Given the description of an element on the screen output the (x, y) to click on. 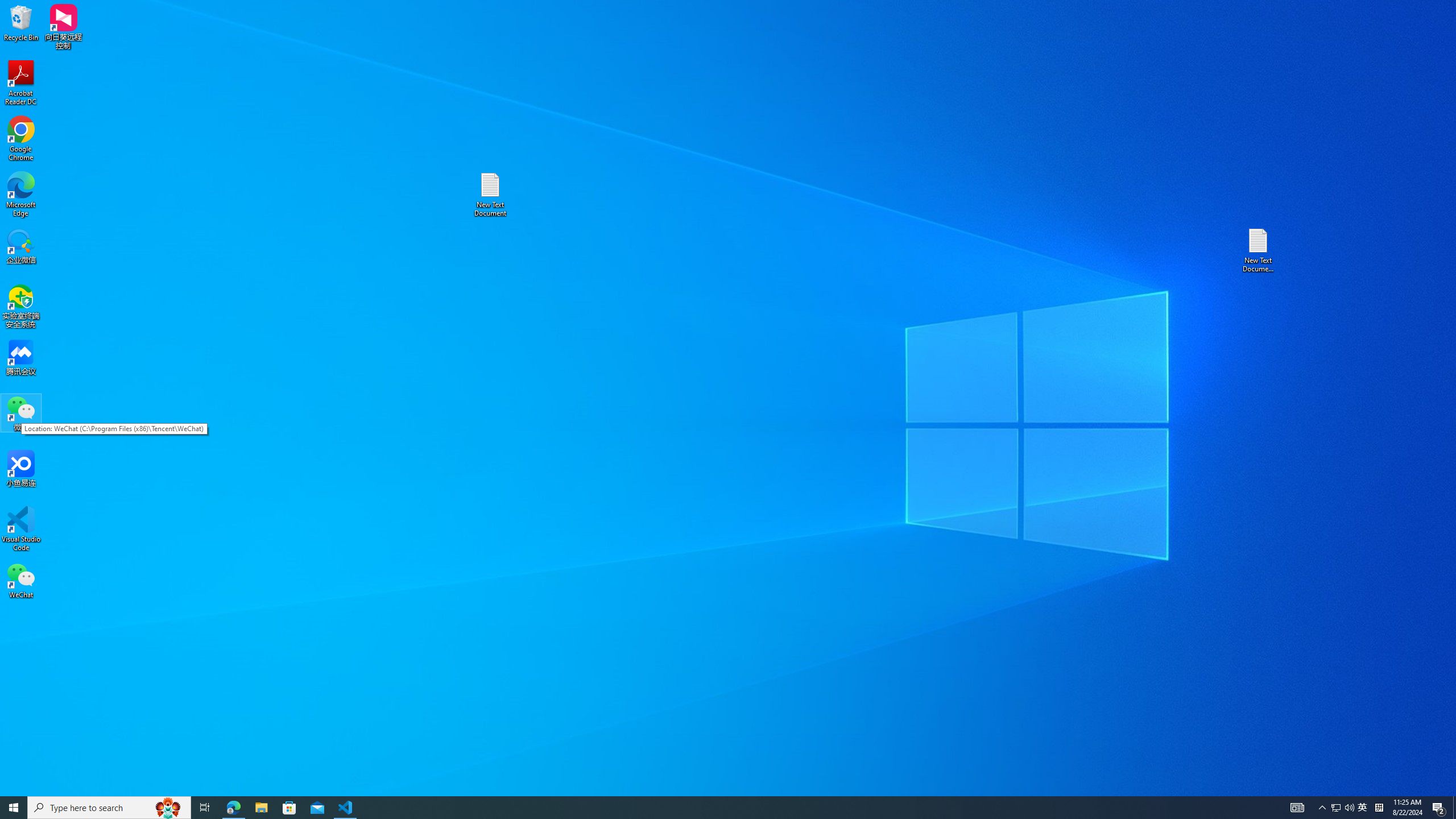
Acrobat Reader DC (21, 82)
